Given the description of an element on the screen output the (x, y) to click on. 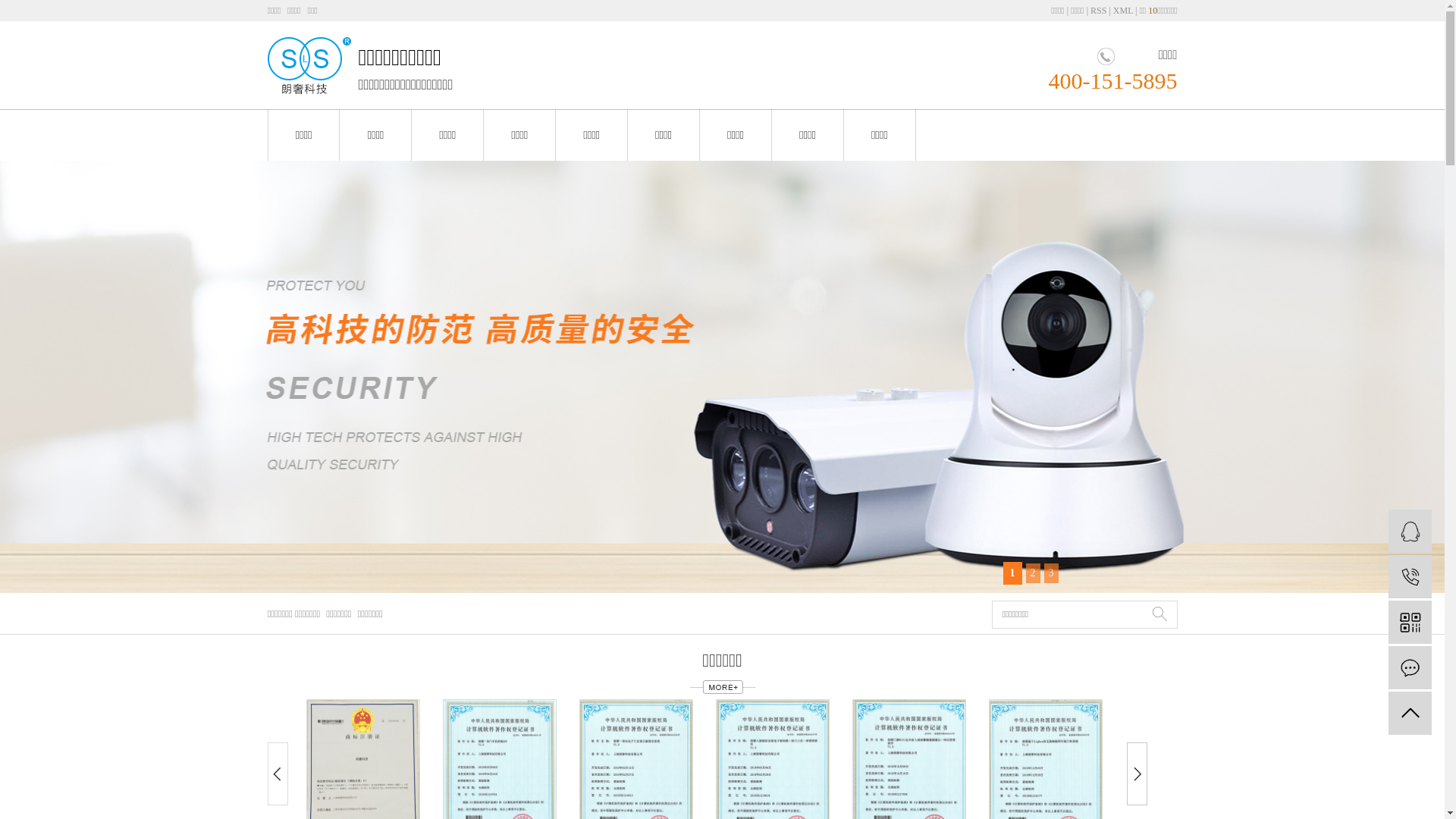
XML Element type: text (1122, 10)
more Element type: hover (722, 685)
RSS Element type: text (1098, 10)
more Element type: hover (722, 686)
